Given the description of an element on the screen output the (x, y) to click on. 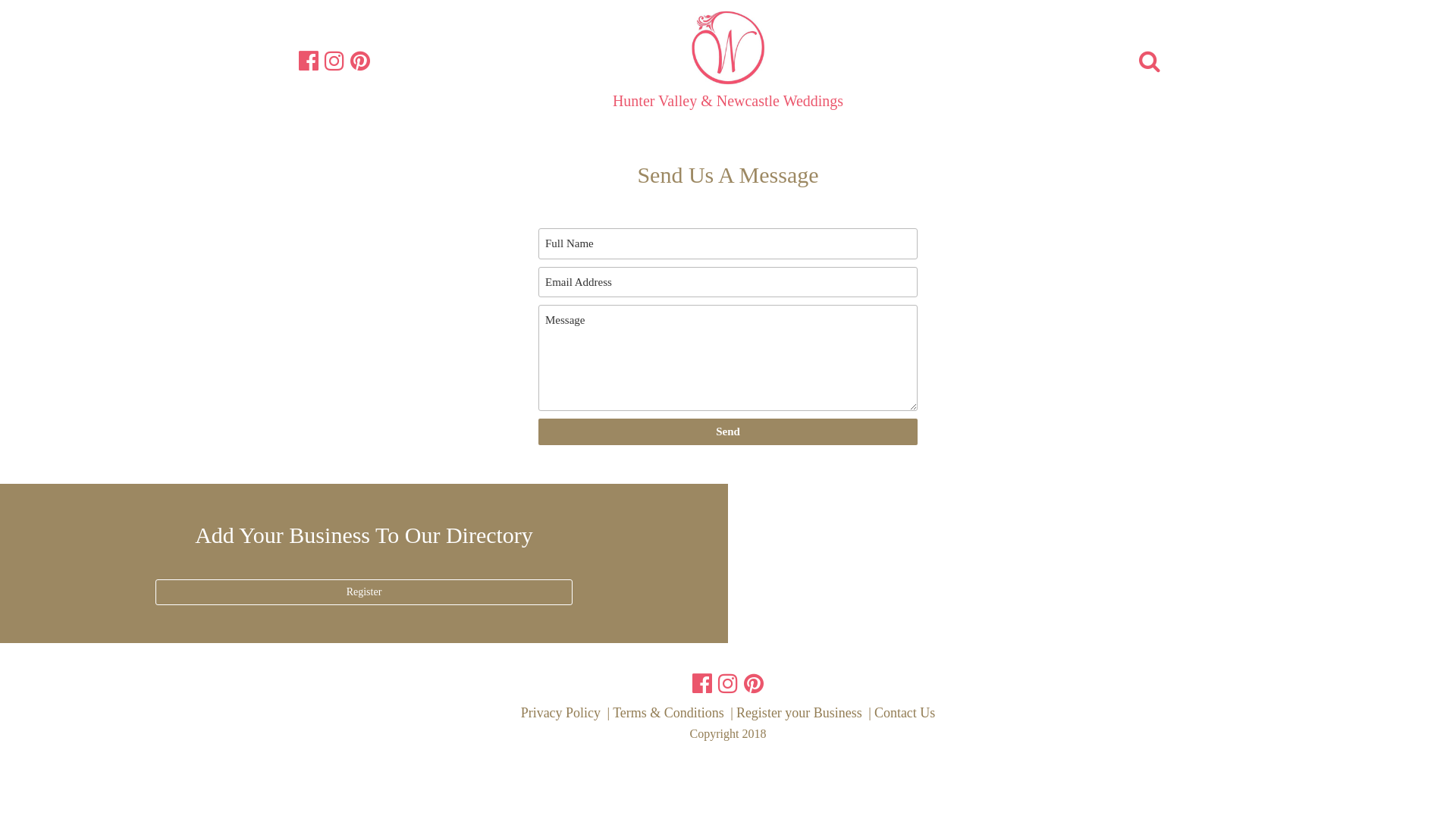
Contact Us Element type: text (904, 713)
Terms & Conditions Element type: text (668, 713)
Send Element type: text (727, 431)
Privacy Policy Element type: text (560, 713)
Register your Business Element type: text (799, 713)
Register Element type: text (363, 592)
